Given the description of an element on the screen output the (x, y) to click on. 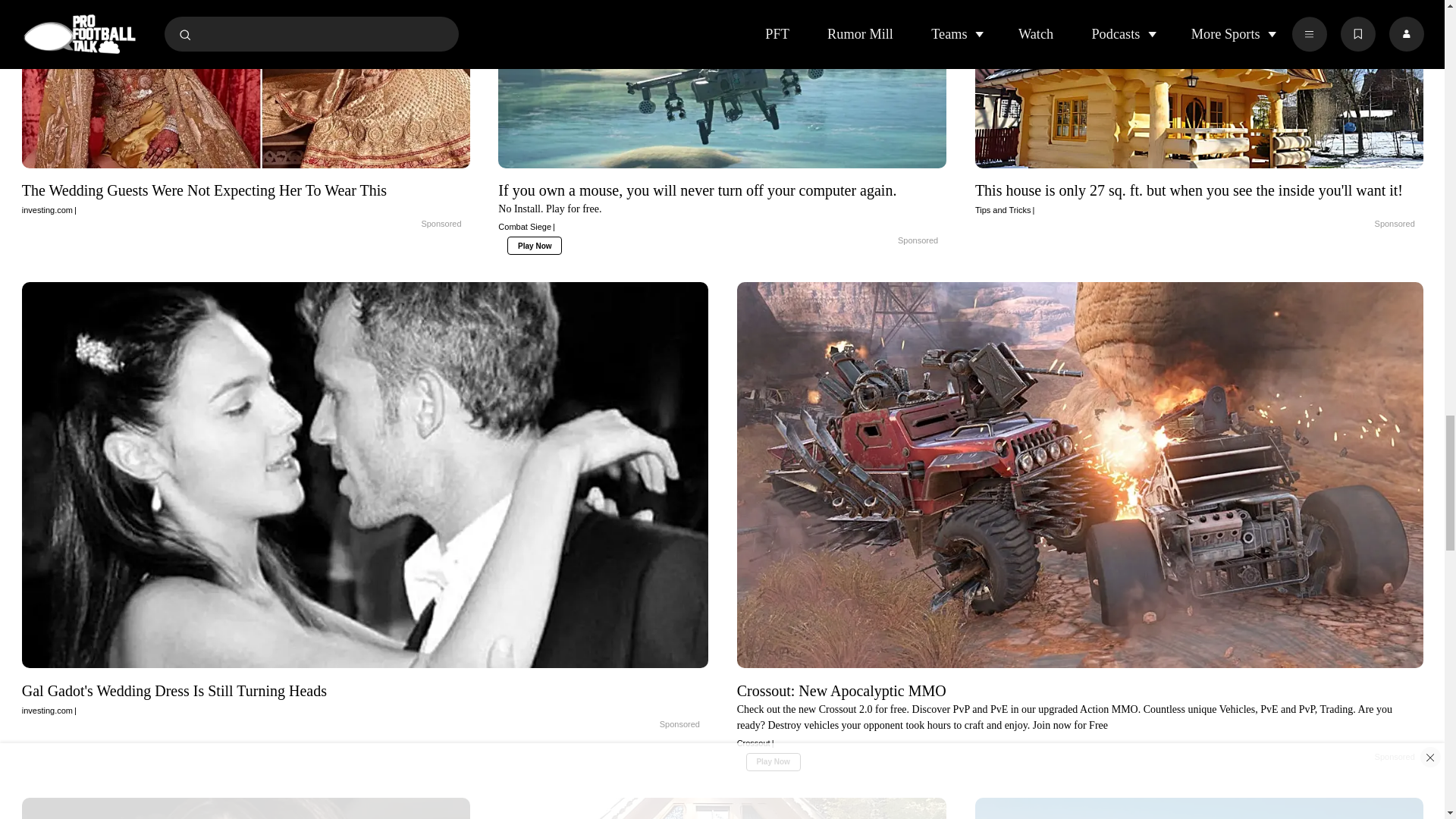
The Wedding Guests Were Not Expecting Her To Wear This (404, 224)
The Wedding Guests Were Not Expecting Her To Wear This (245, 198)
